Given the description of an element on the screen output the (x, y) to click on. 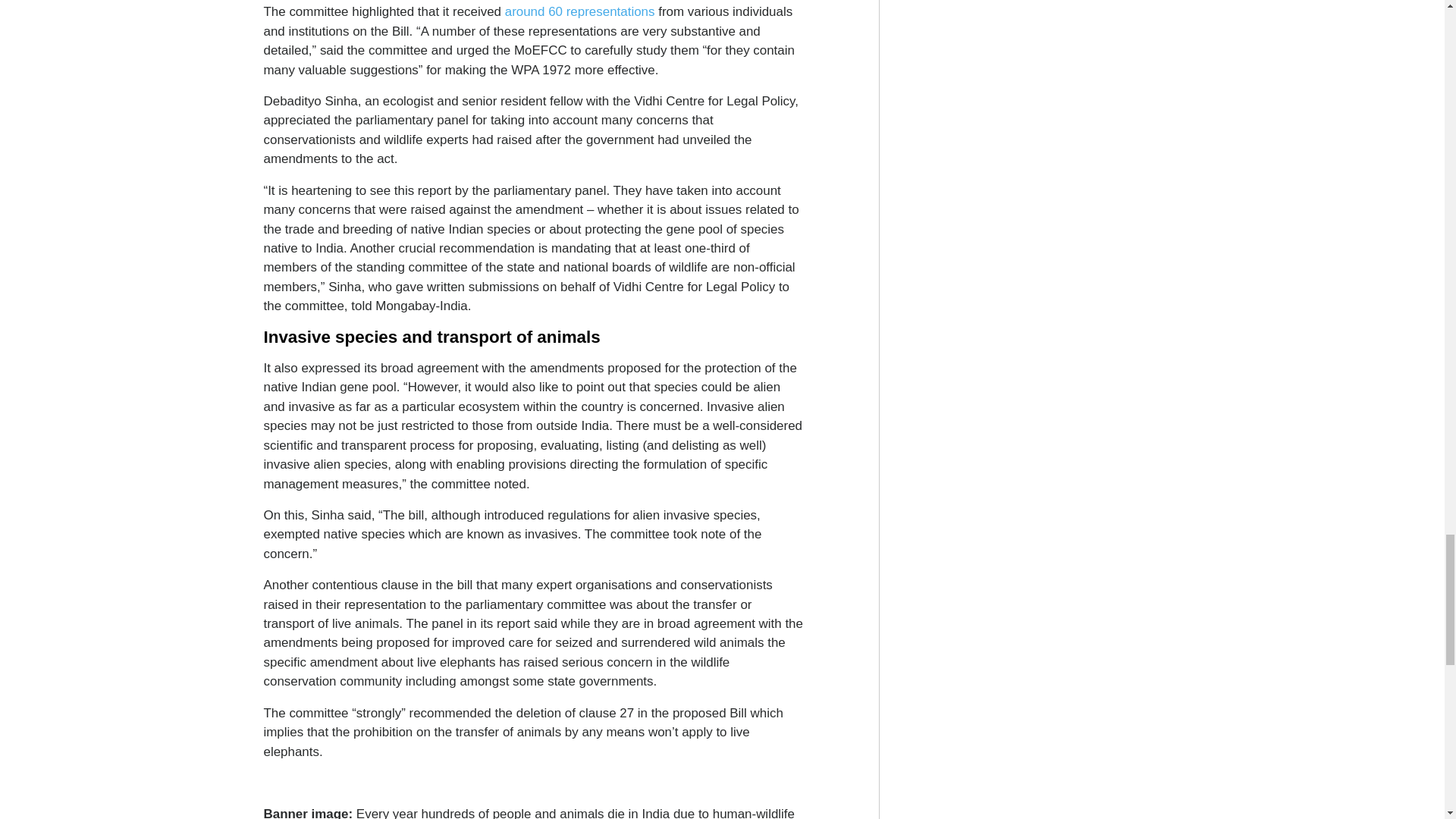
around 60 representations (580, 11)
